Given the description of an element on the screen output the (x, y) to click on. 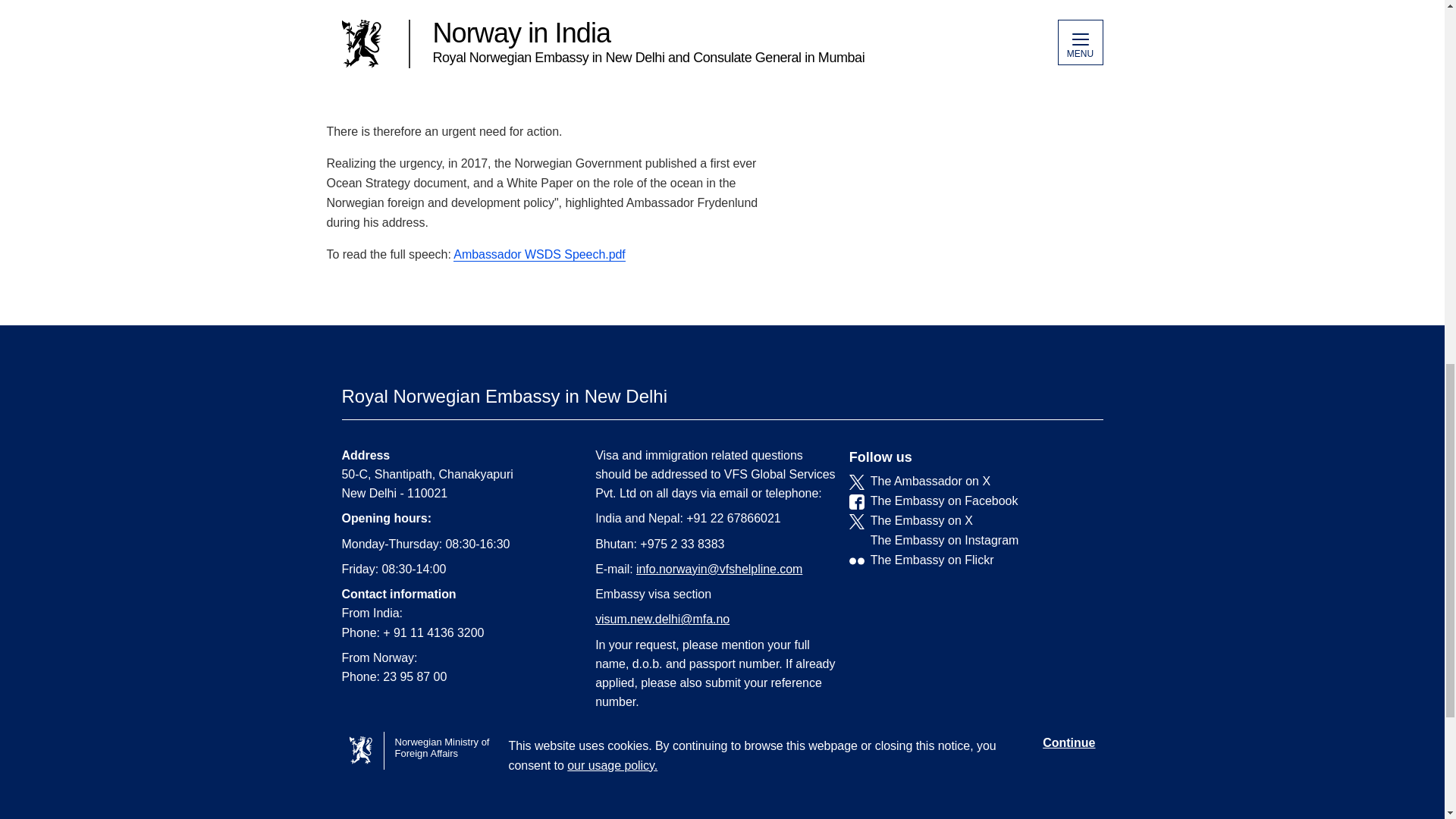
Mumbai (503, 790)
The Ambassador on X (964, 481)
The Embassy on X (964, 520)
The Embassy on Facebook (964, 500)
Sri Lanka, the Maldives and Bhutan (454, 814)
Ambassador WSDS Speech.pdf (538, 254)
Ambassador WSDS Speech.pdf (538, 254)
